Given the description of an element on the screen output the (x, y) to click on. 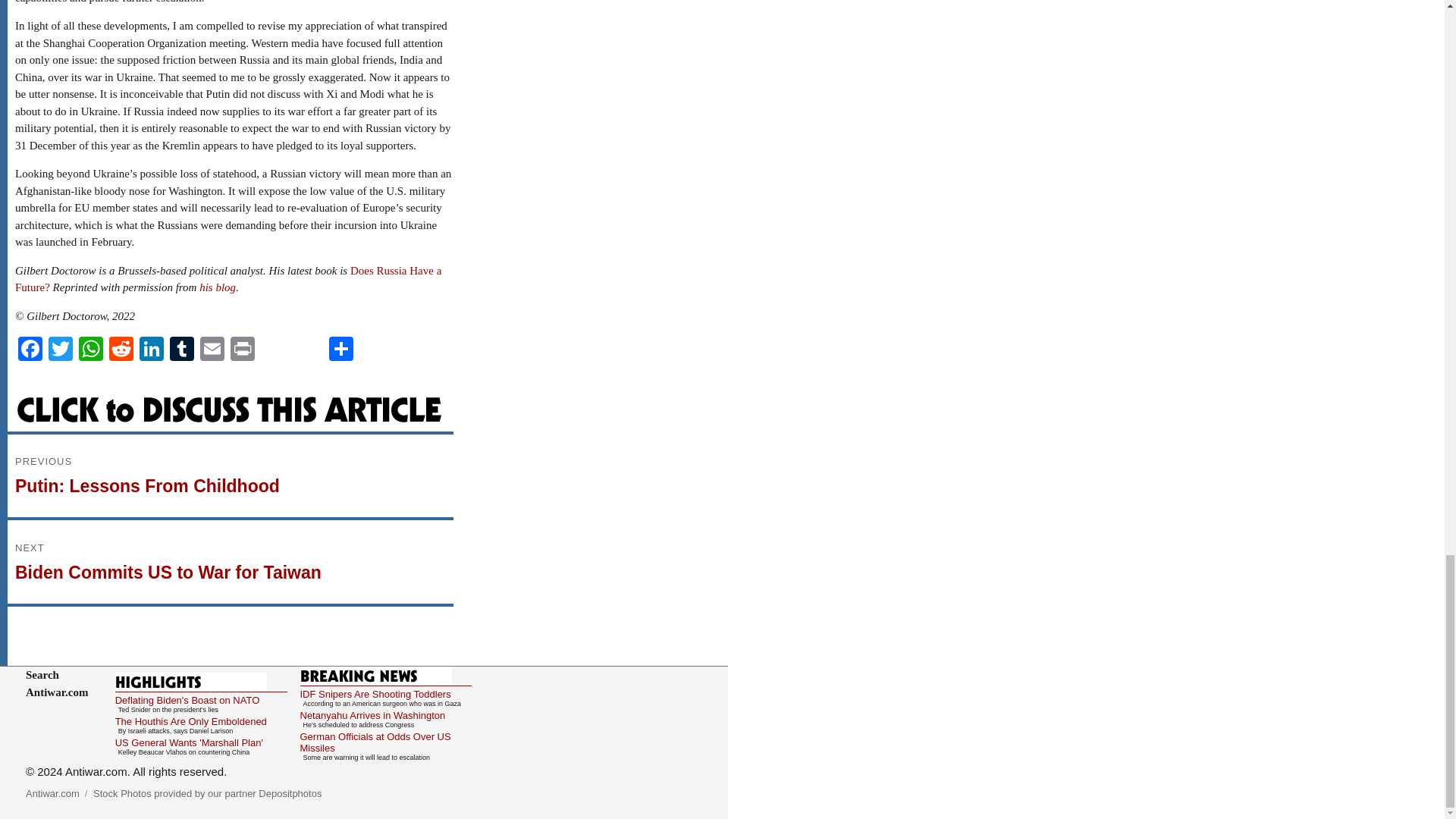
Print (242, 350)
WhatsApp (229, 475)
Reddit (90, 350)
Facebook (121, 350)
Tumblr (29, 350)
Print (181, 350)
Share (242, 350)
WhatsApp (341, 350)
Does Russia Have a Future? (90, 350)
his blog (227, 279)
Twitter (217, 287)
LinkedIn (60, 350)
Tumblr (151, 350)
Email (181, 350)
